Given the description of an element on the screen output the (x, y) to click on. 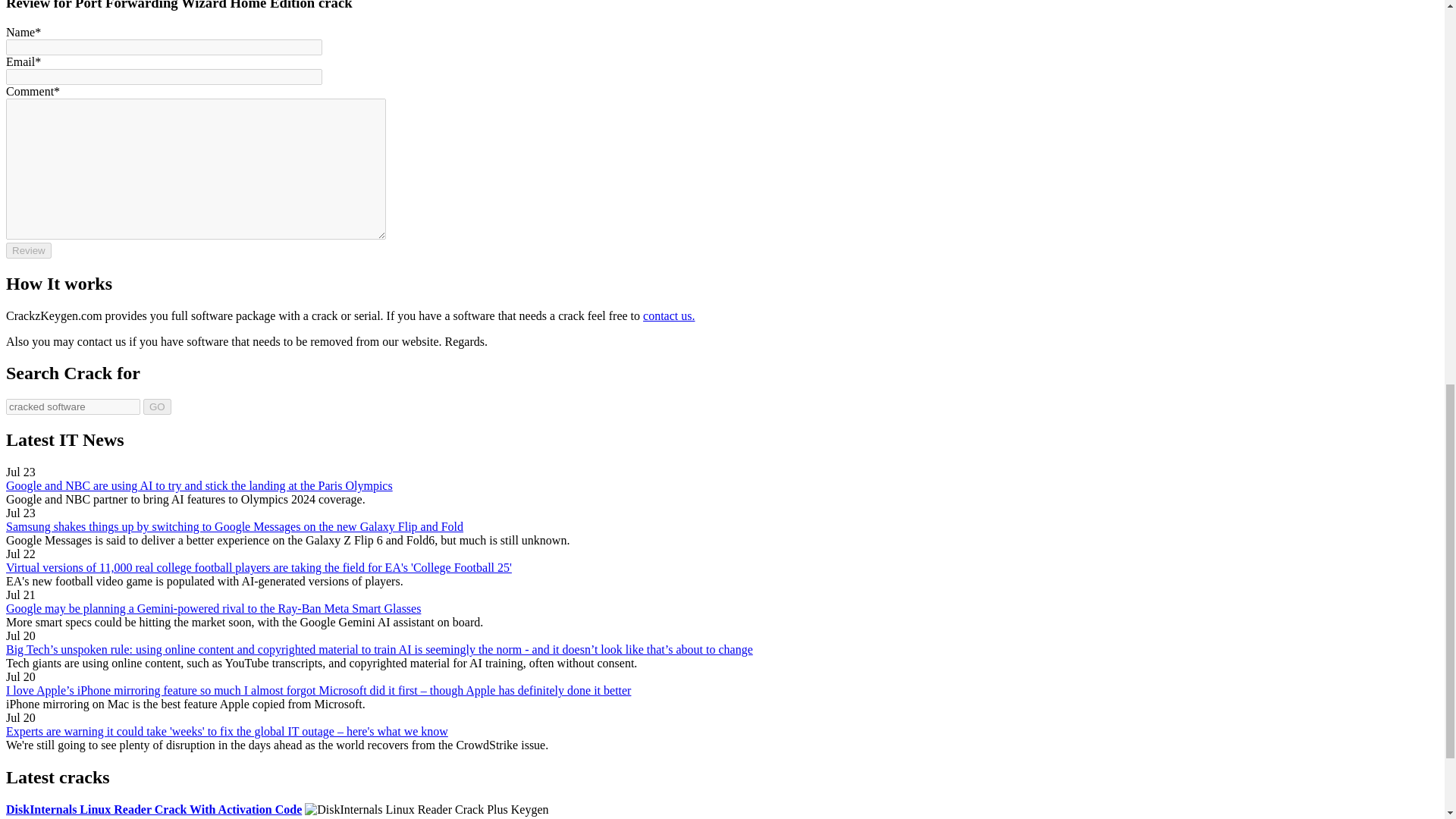
GO (156, 406)
Review (27, 250)
GO (156, 406)
DiskInternals Linux Reader Crack With Activation Code (153, 809)
contact us. (668, 315)
Review (27, 250)
